Given the description of an element on the screen output the (x, y) to click on. 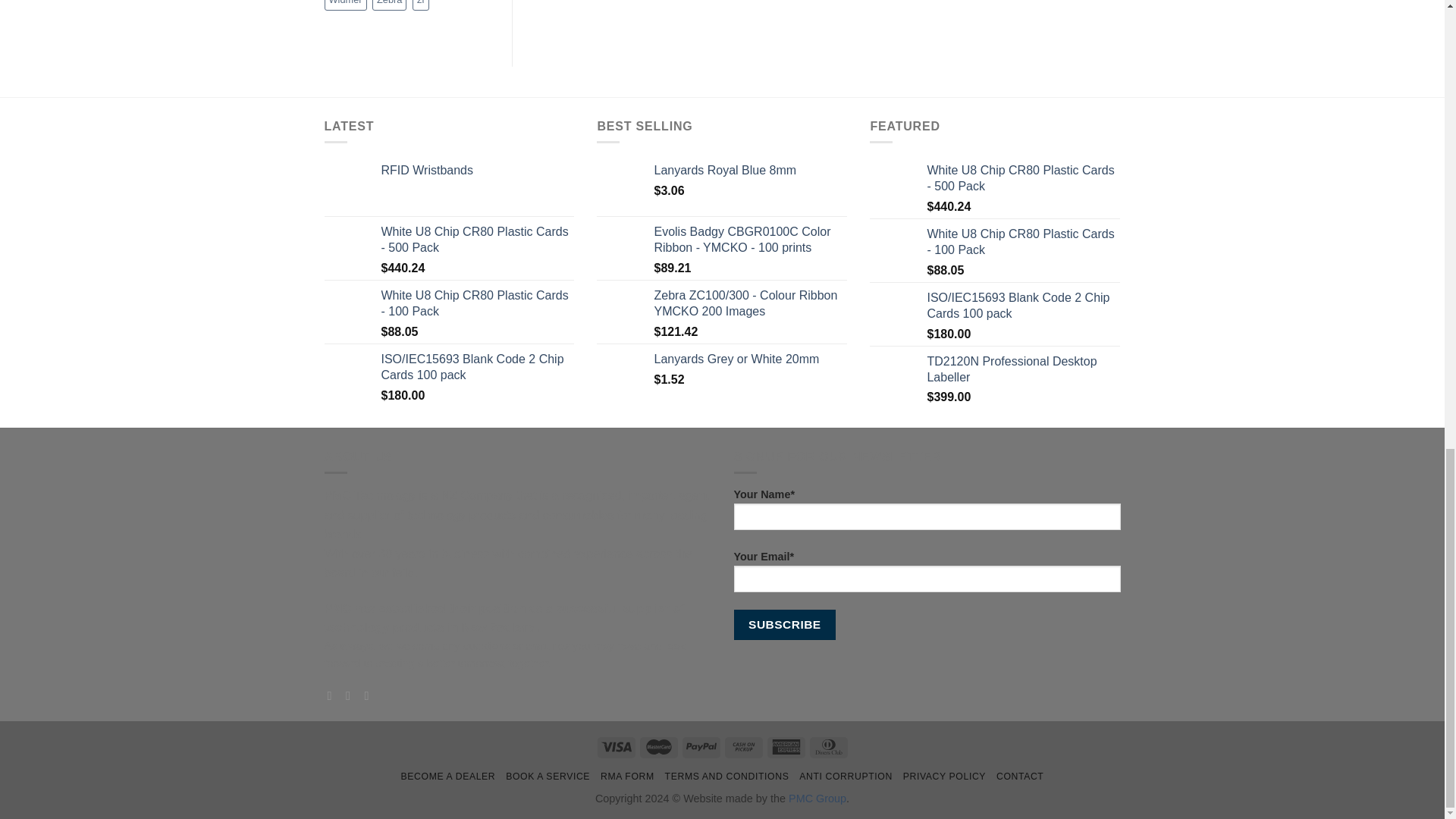
Subscribe (784, 624)
